Given the description of an element on the screen output the (x, y) to click on. 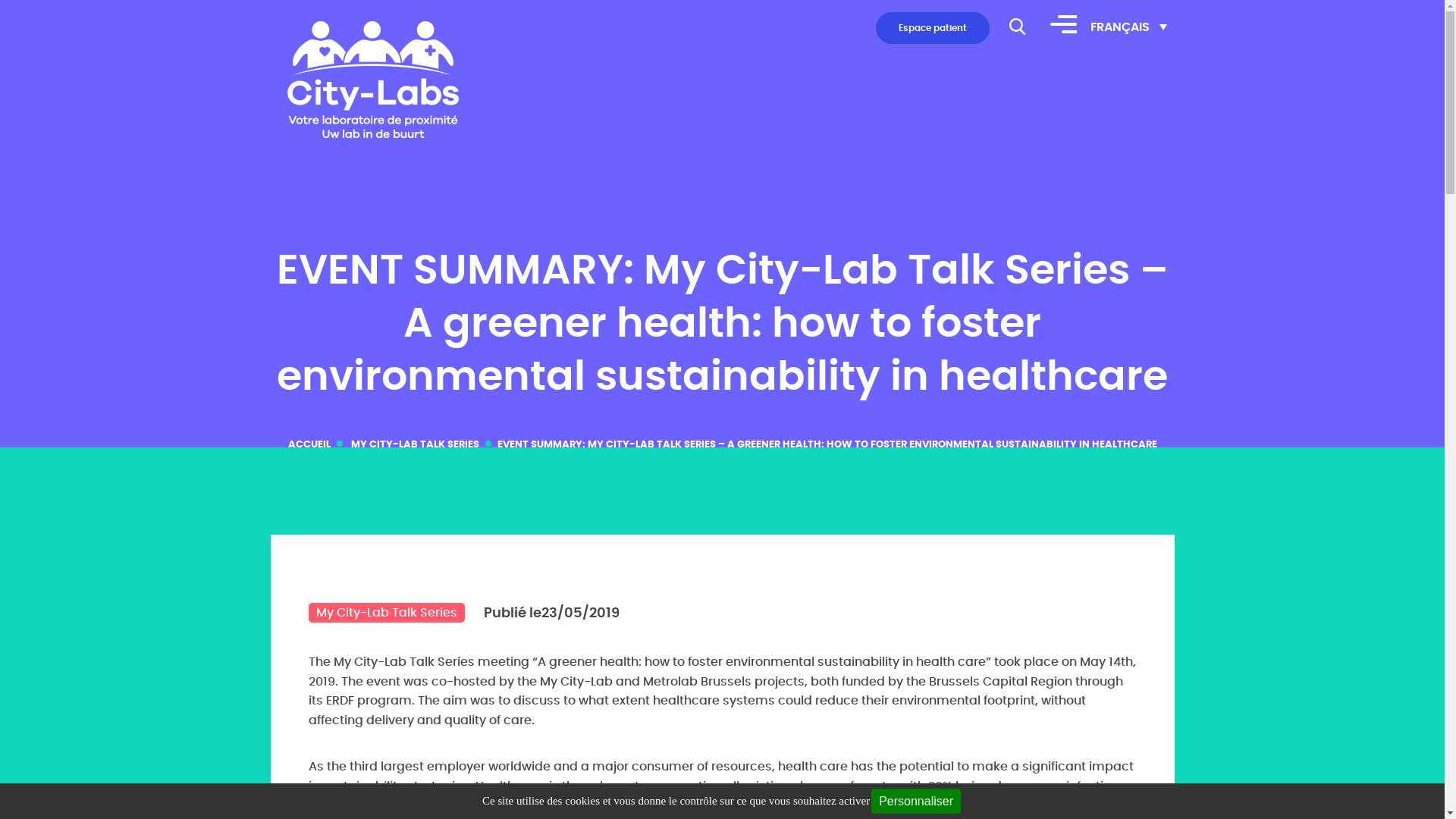
Personnaliser Element type: text (915, 800)
Espace patient Element type: text (932, 27)
Passer au contenu Element type: text (1074, 53)
Aller au menu Element type: text (42, 9)
MY CITY-LAB TALK SERIES Element type: text (414, 444)
Aller au texte Element type: text (39, 9)
City-Labs Element type: hover (369, 80)
ACCUEIL Element type: text (309, 444)
